Given the description of an element on the screen output the (x, y) to click on. 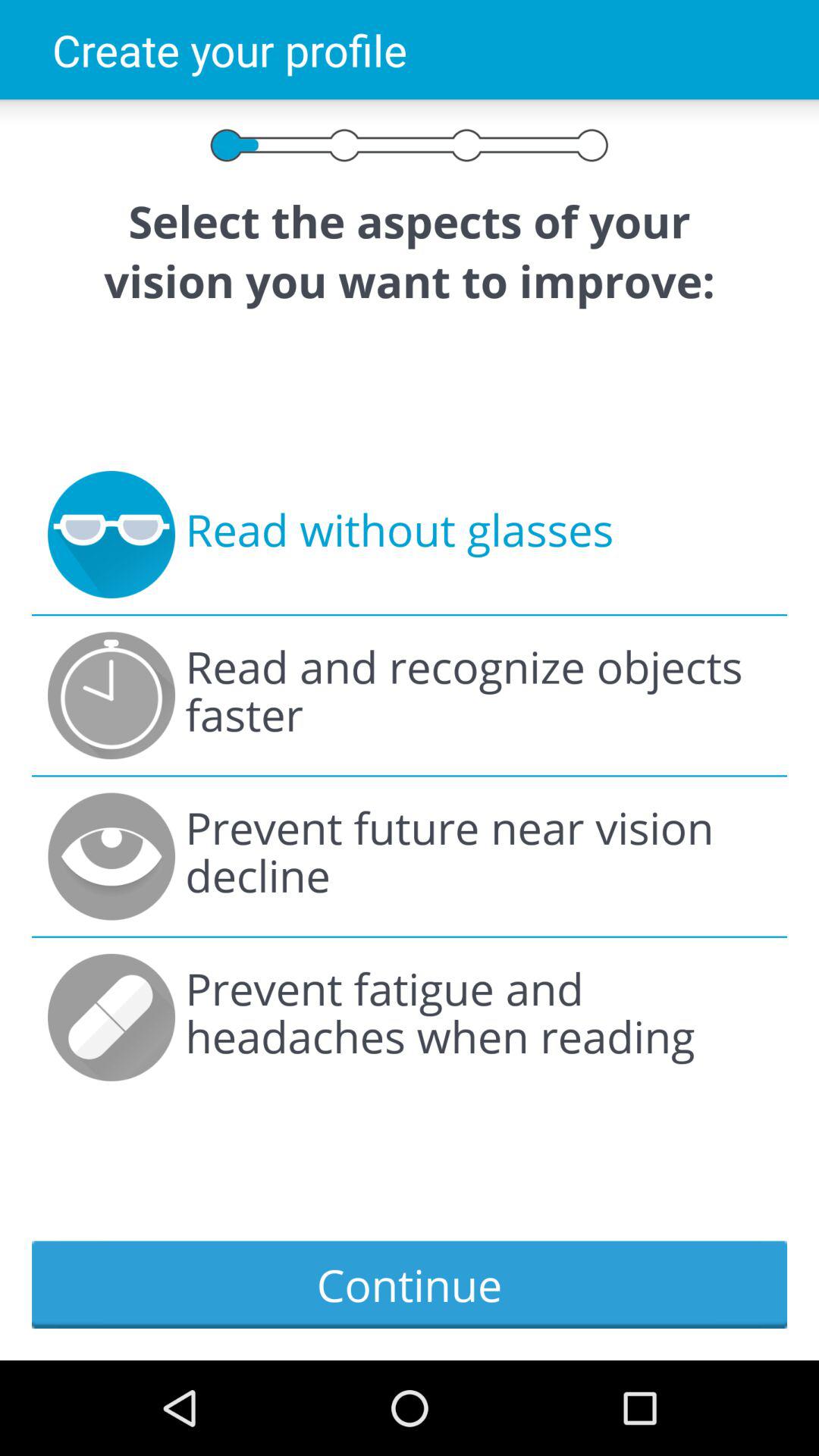
launch item above read and recognize item (399, 534)
